Given the description of an element on the screen output the (x, y) to click on. 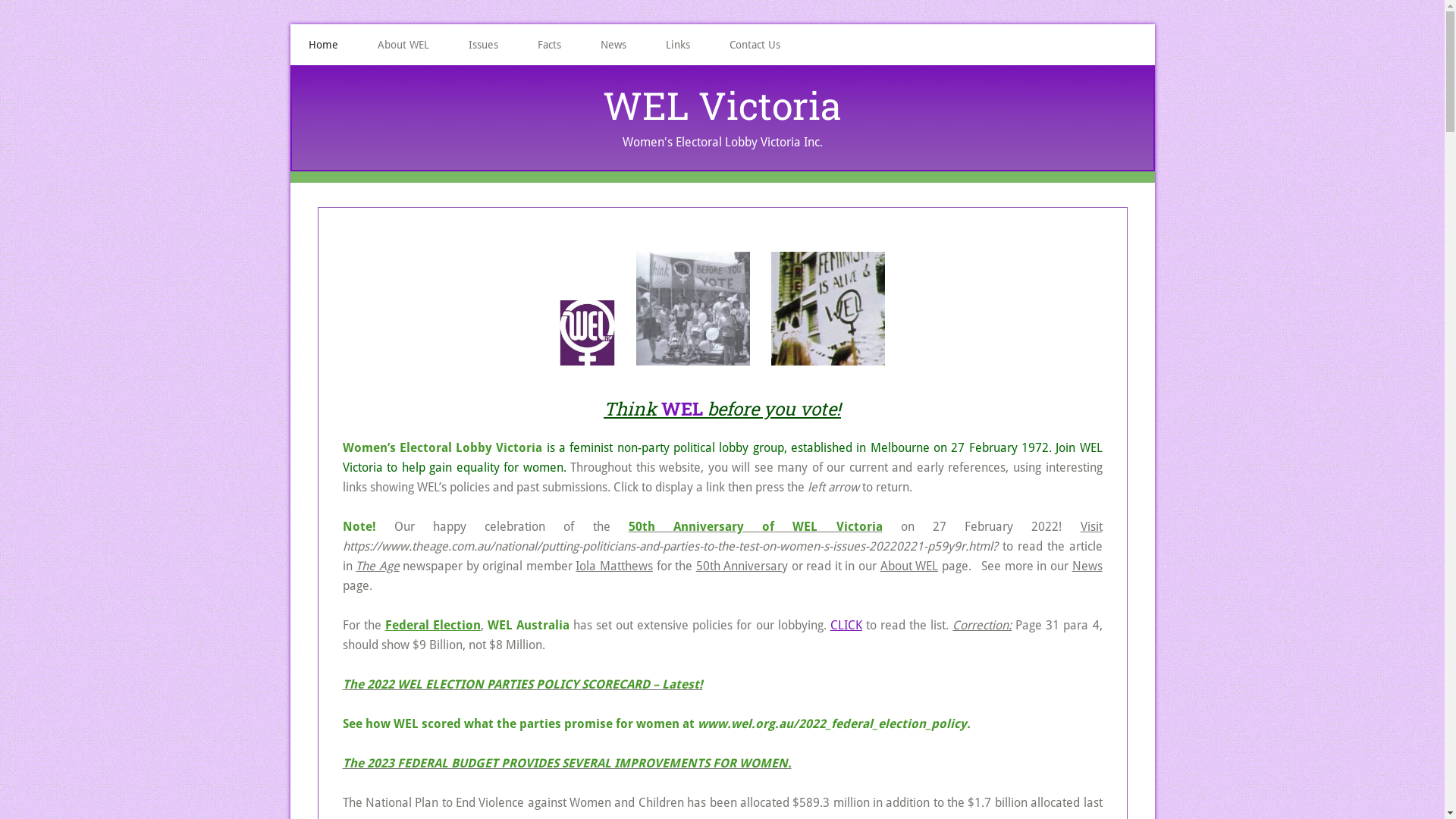
Skip to main content Element type: text (0, 0)
Facts Element type: text (548, 44)
WEL Victoria Element type: text (721, 105)
Home Element type: text (322, 44)
    Element type: text (703, 365)
CLICK Element type: text (846, 625)
Links Element type: text (677, 44)
News Element type: text (613, 44)
Issues Element type: text (483, 44)
Contact Us Element type: text (754, 44)
About WEL Element type: text (403, 44)
